Given the description of an element on the screen output the (x, y) to click on. 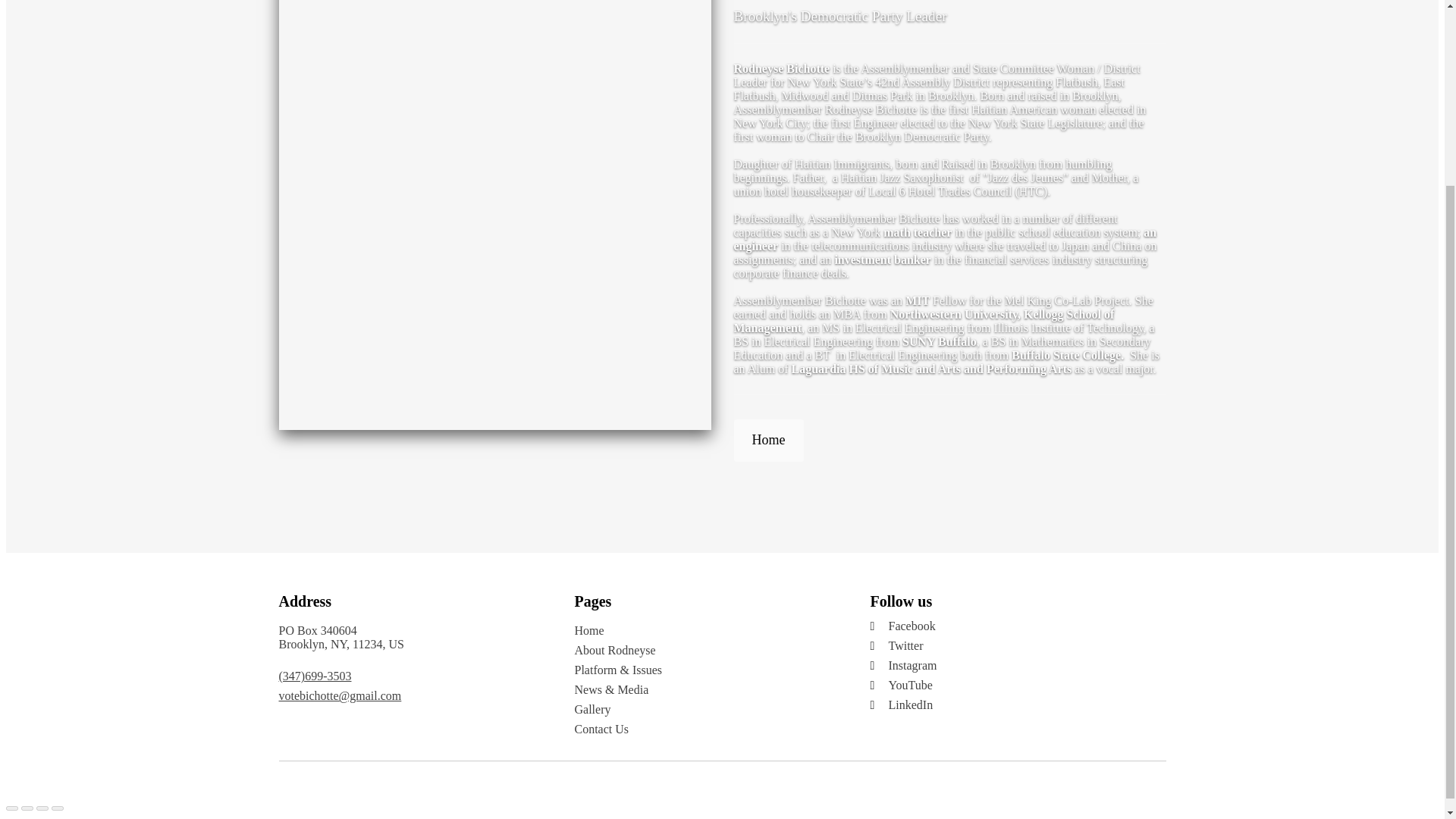
Contact Us (707, 729)
Share (27, 807)
Toggle fullscreen (42, 807)
Gallery (707, 709)
Facebook (1012, 626)
Home (707, 631)
YouTube (1012, 685)
About Rodneyse (707, 650)
Home (768, 440)
Twitter (1012, 645)
Instagram (1012, 665)
LinkedIn (1012, 704)
